Given the description of an element on the screen output the (x, y) to click on. 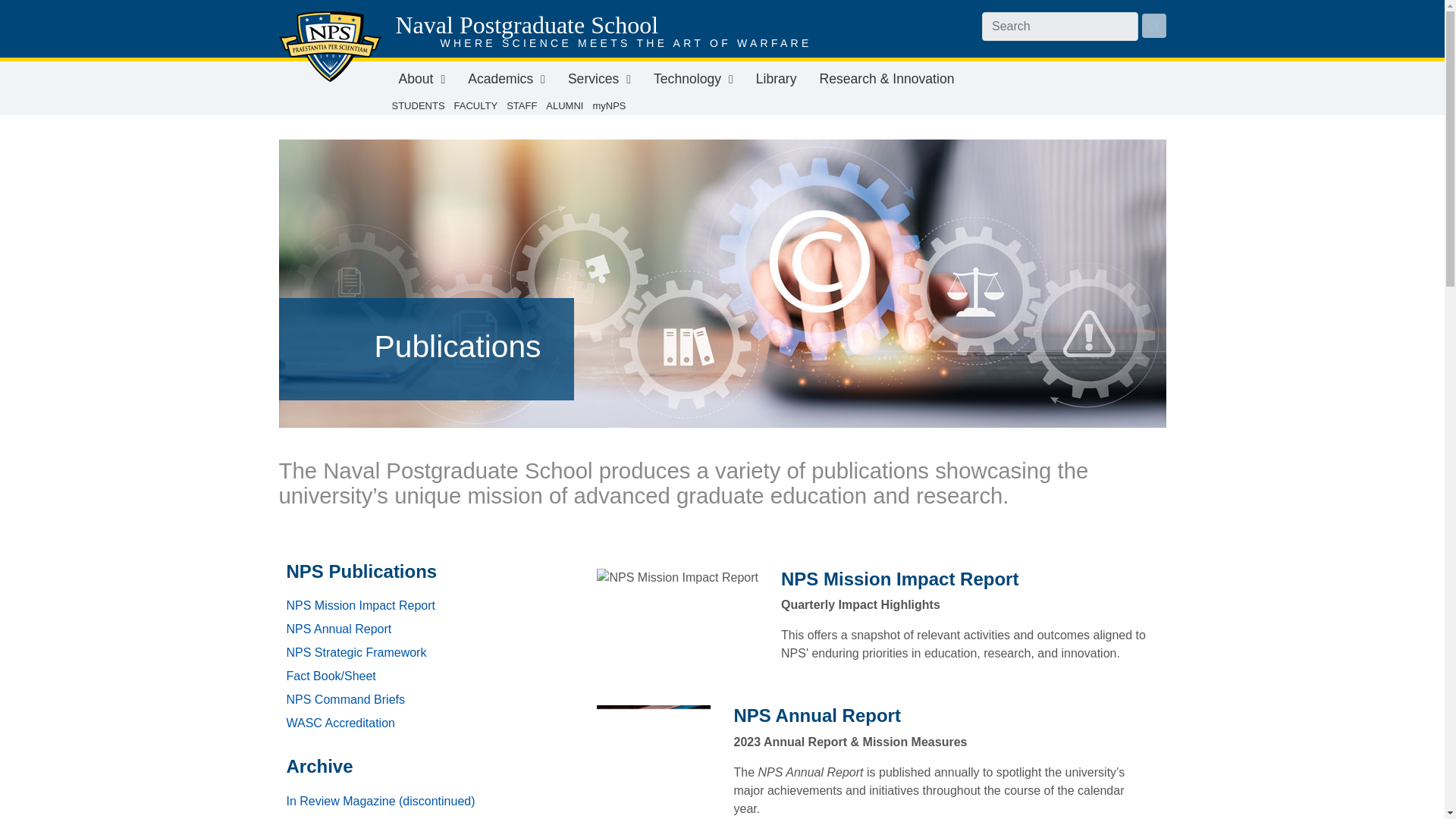
Go to Naval Postgraduate School (330, 46)
About (422, 78)
Naval Postgraduate School (469, 24)
Go to Naval Postgraduate School (469, 24)
Search (1059, 26)
